Given the description of an element on the screen output the (x, y) to click on. 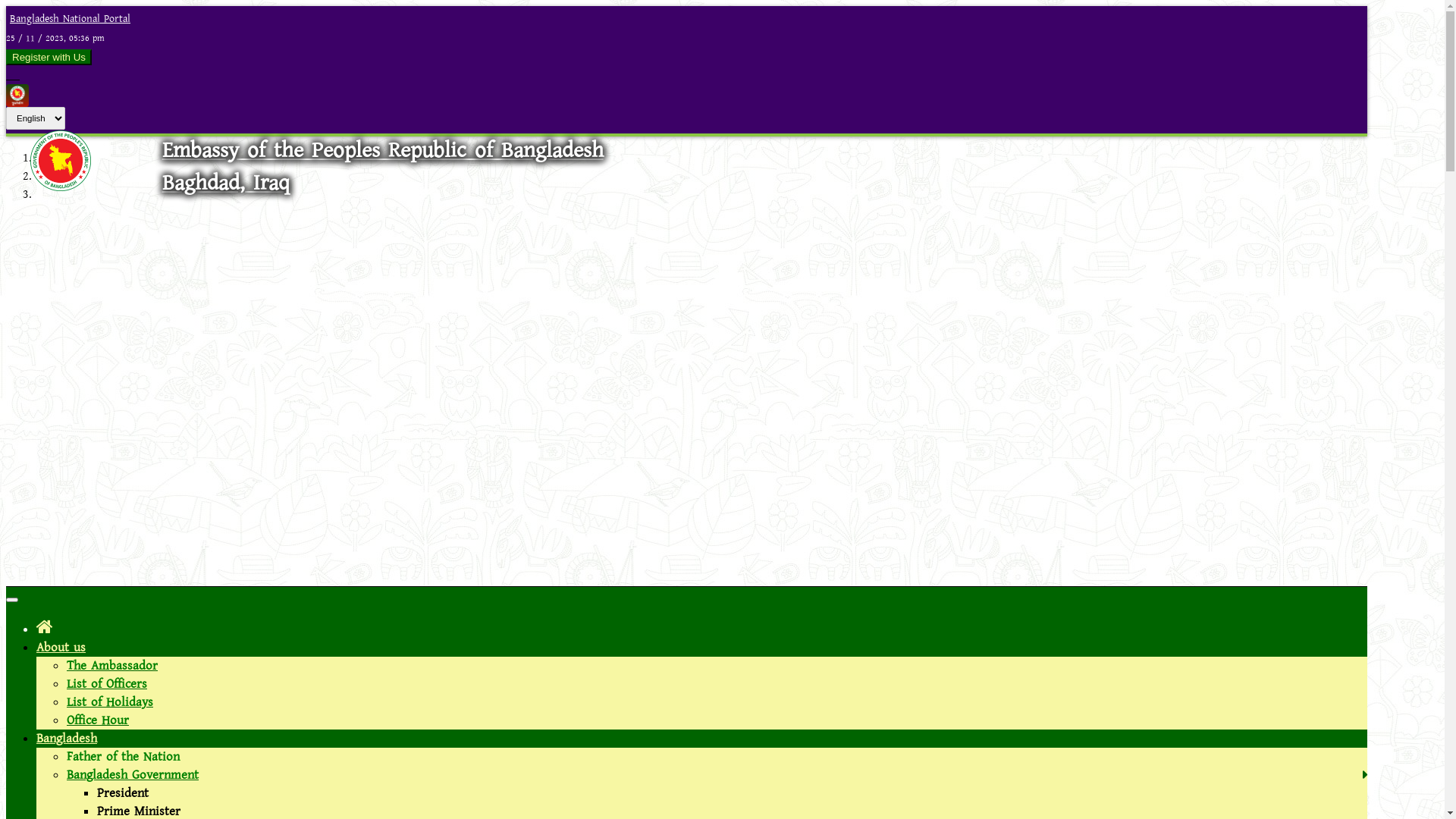
Logo Element type: hover (60, 186)
Home Element type: hover (44, 627)
List of Officers Element type: text (106, 683)
Youtube Element type: hover (12, 74)
Bangladesh Government Element type: text (132, 774)
About us Element type: text (60, 647)
Bangladesh Element type: text (66, 738)
Twitter Element type: hover (17, 74)
Register with Us Element type: text (48, 56)
The Ambassador Element type: text (111, 665)
Father of the Nation Element type: text (122, 756)
President Element type: text (122, 793)
Bangladesh National Portal Element type: text (68, 18)
Office Hour Element type: text (97, 720)
Facebook Element type: hover (8, 74)
Embassy of the Peoples Republic of Bangladesh
Baghdad, Iraq Element type: text (382, 166)
List of Holidays Element type: text (109, 702)
Register with Us Element type: text (48, 57)
